Given the description of an element on the screen output the (x, y) to click on. 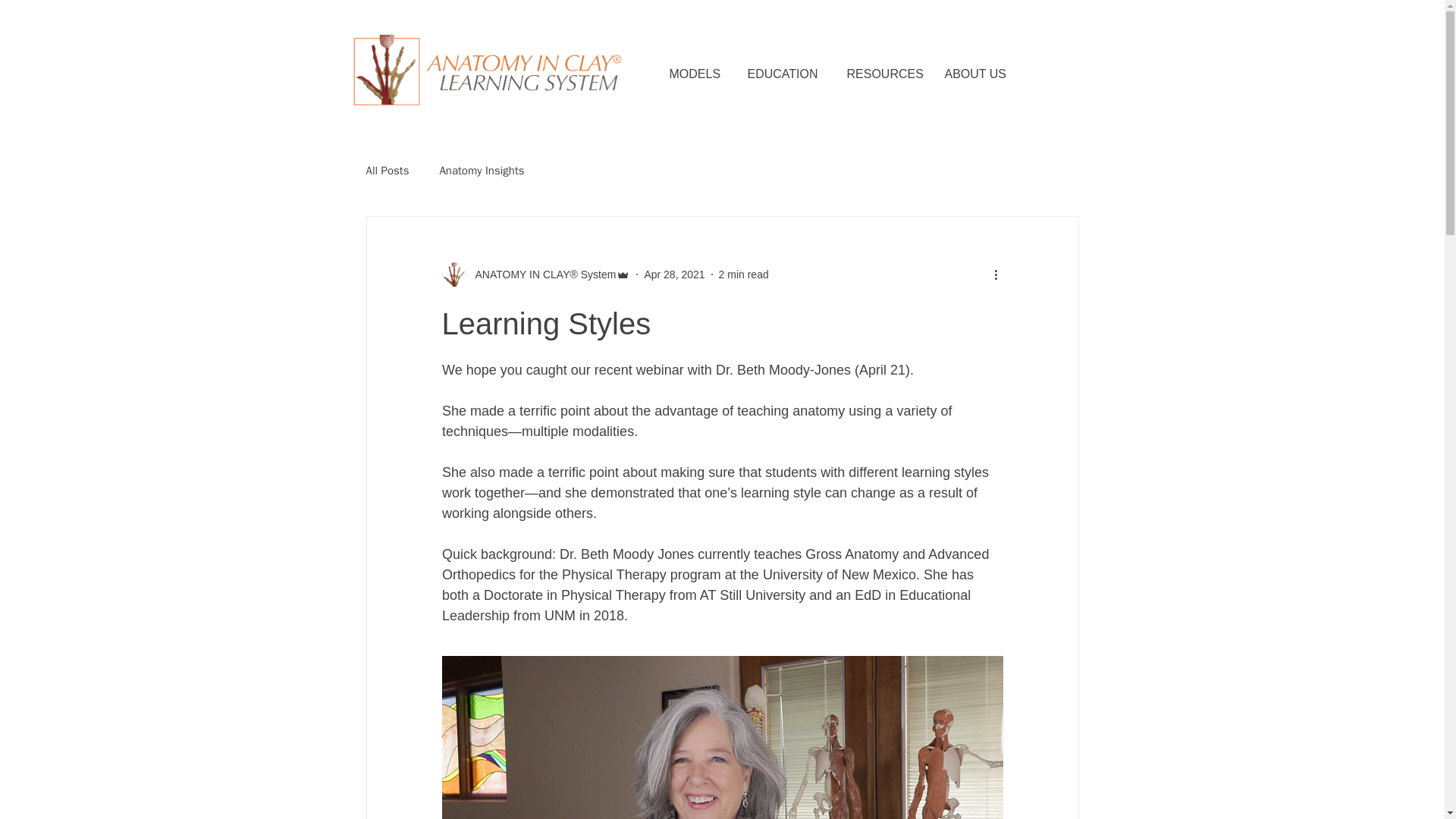
ABOUT US (981, 74)
RESOURCES (887, 74)
EDUCATION (789, 74)
2 min read (743, 274)
MODELS (700, 74)
All Posts (387, 170)
Anatomy Insights (481, 170)
Apr 28, 2021 (673, 274)
